Given the description of an element on the screen output the (x, y) to click on. 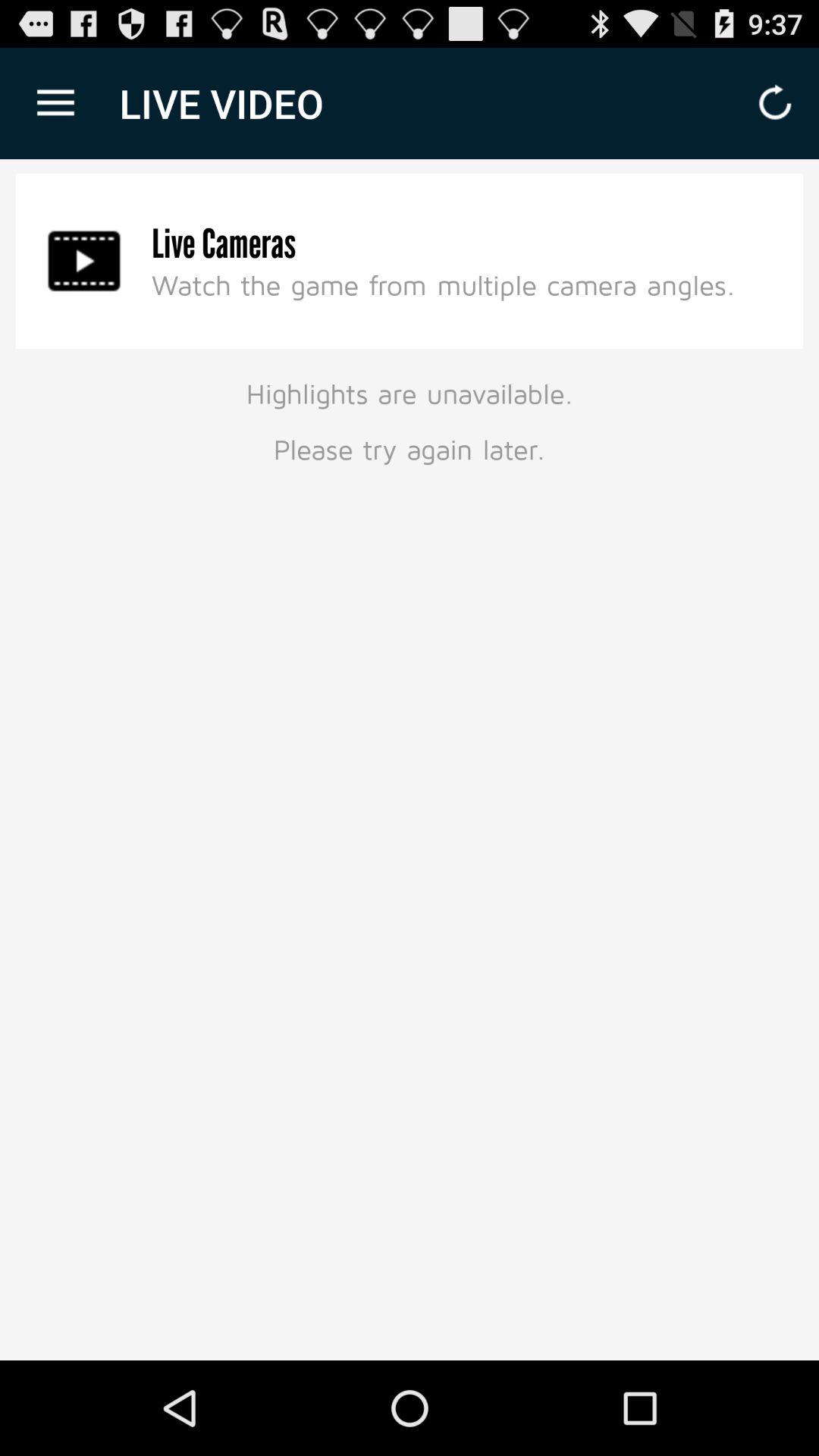
tap the item above watch the game (223, 243)
